Given the description of an element on the screen output the (x, y) to click on. 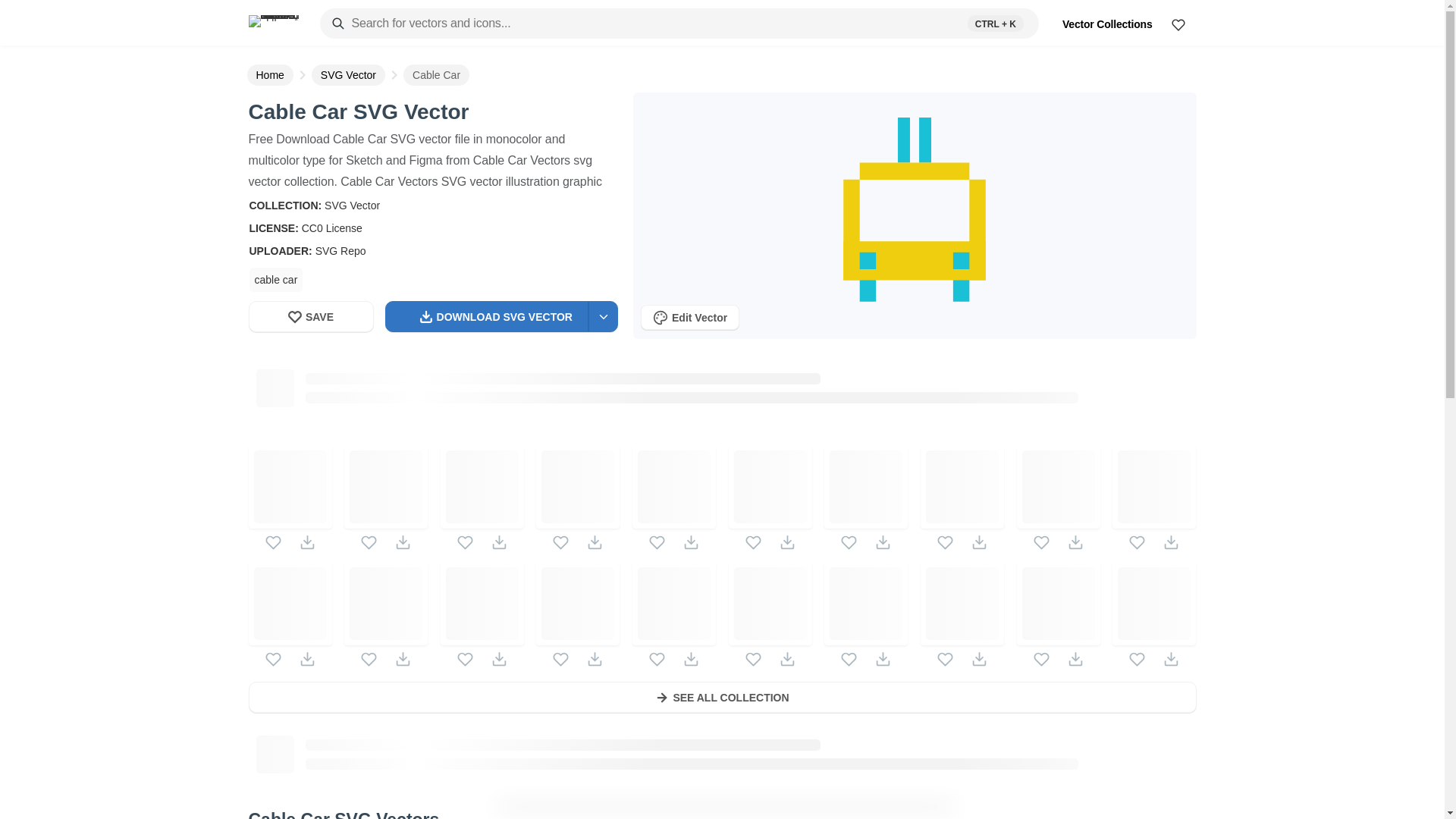
Like undefined SVG File (753, 659)
Like undefined SVG File (753, 542)
Like undefined SVG File (657, 659)
Like undefined SVG File (657, 542)
Like undefined SVG File (369, 542)
Like undefined SVG File (561, 659)
Like undefined SVG File (272, 659)
Home (270, 74)
SVG Vector (352, 205)
cable car (275, 279)
